Given the description of an element on the screen output the (x, y) to click on. 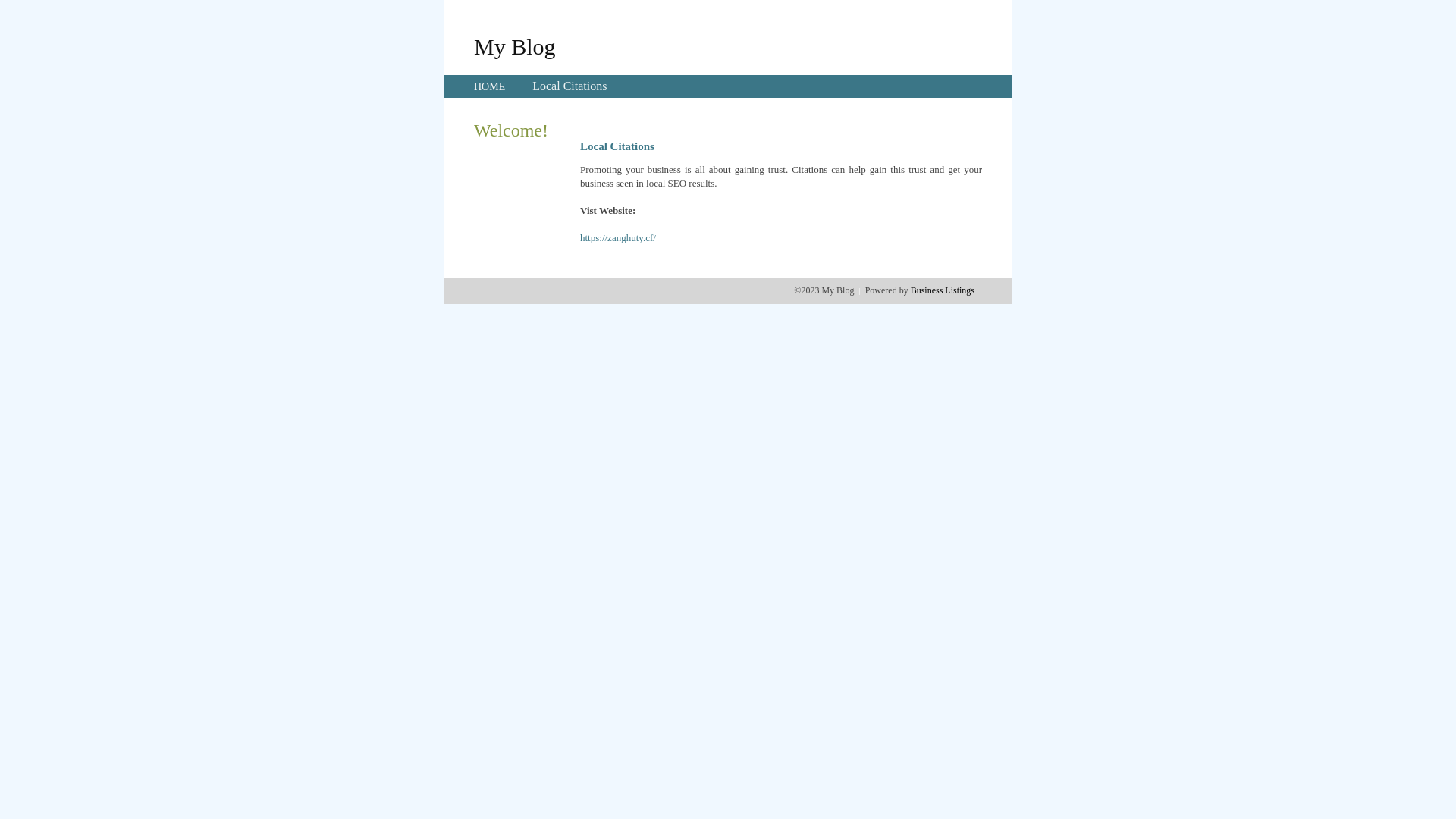
My Blog Element type: text (514, 46)
https://zanghuty.cf/ Element type: text (617, 237)
HOME Element type: text (489, 86)
Local Citations Element type: text (569, 85)
Business Listings Element type: text (942, 290)
